Given the description of an element on the screen output the (x, y) to click on. 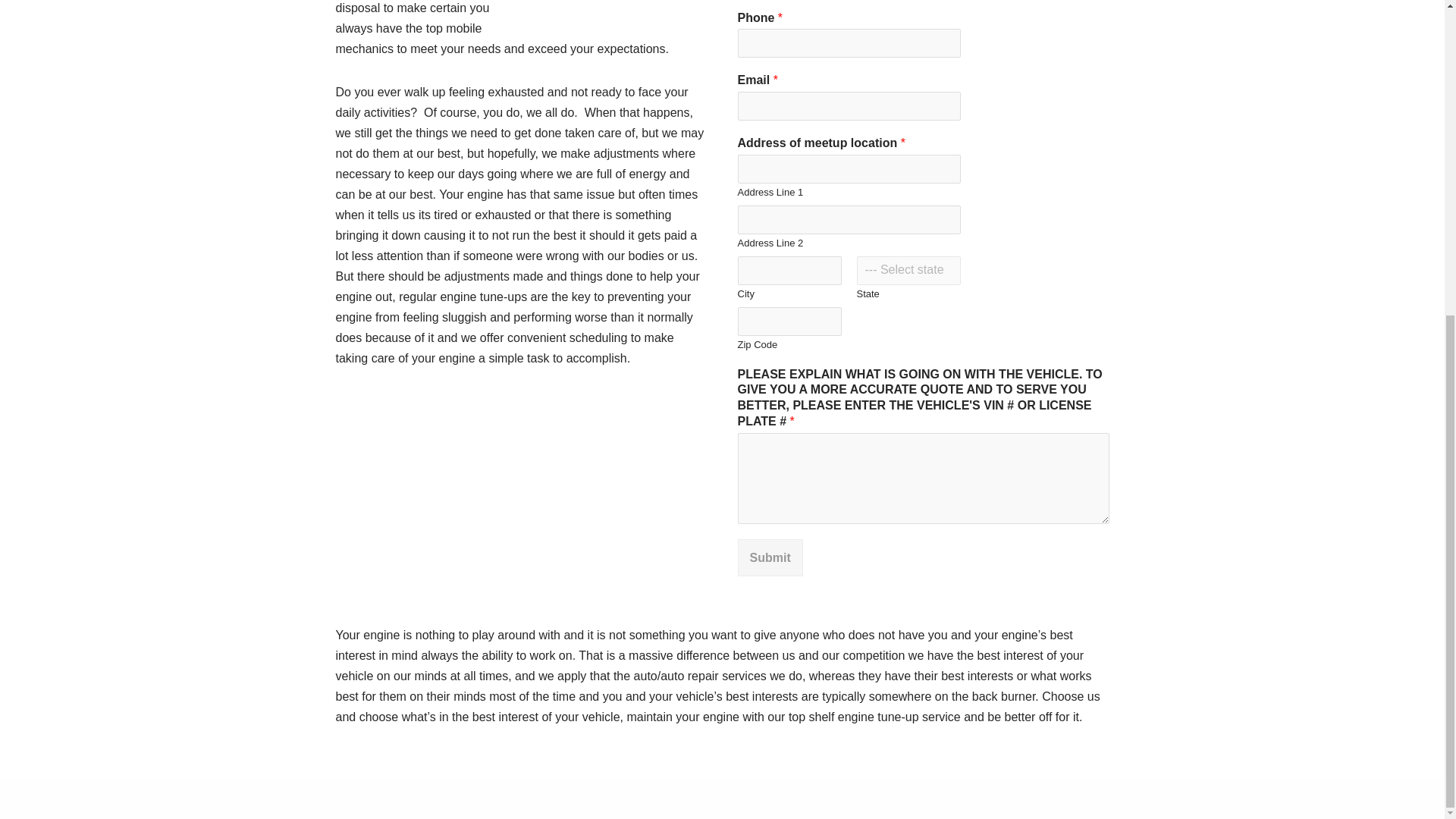
WordPress (410, 799)
Neve (302, 799)
Submit (769, 557)
